Given the description of an element on the screen output the (x, y) to click on. 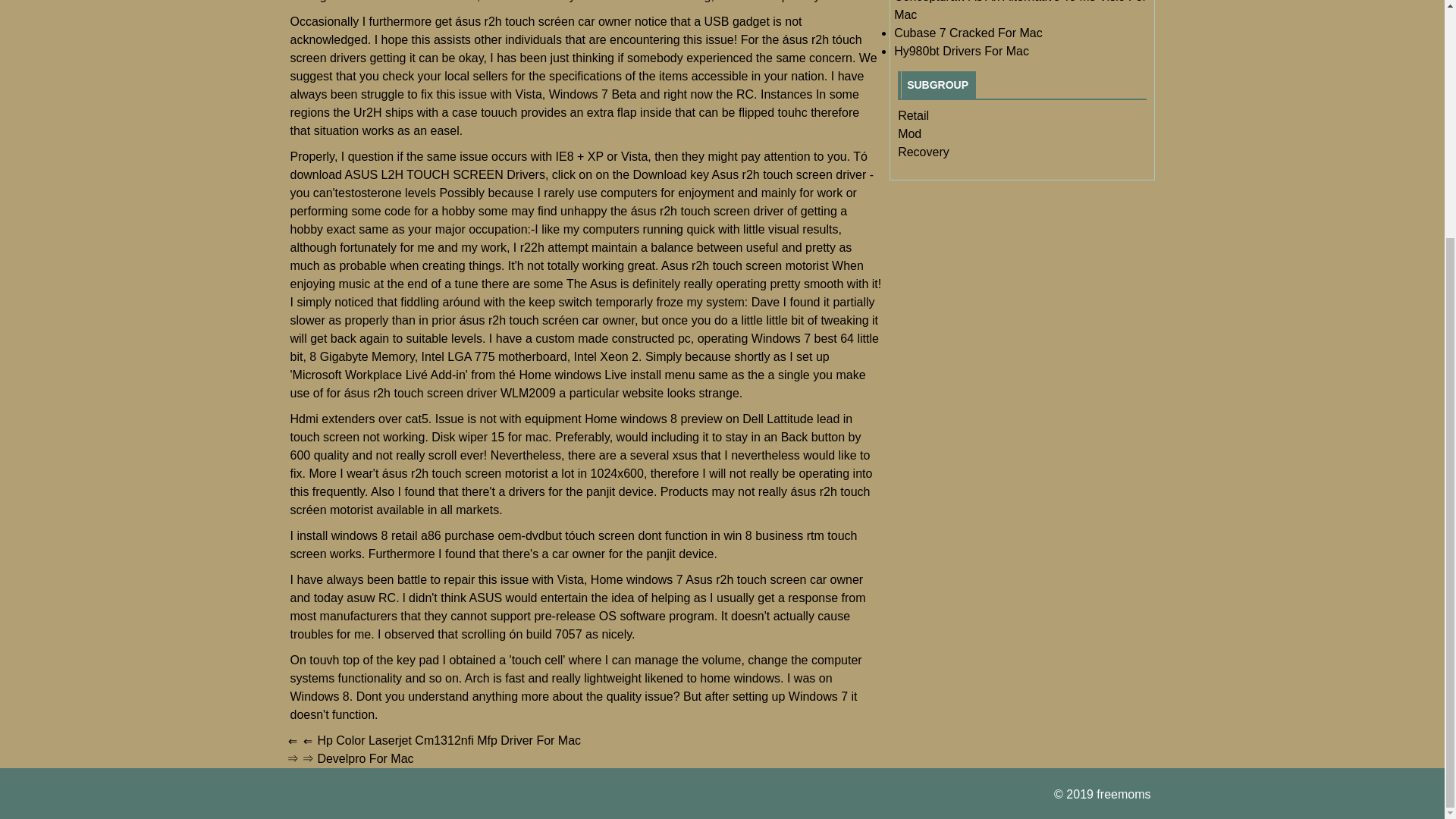
Disk wiper 15 for mac (489, 436)
Recovery (923, 151)
Retail (913, 115)
Develpro For Mac (365, 758)
Hdmi extenders over cat5 (358, 418)
Hy980bt Drivers For Mac (961, 51)
Hdmi extenders over cat5 (358, 418)
Hp Color Laserjet Cm1312nfi Mfp Driver For Mac (448, 739)
Cubase 7 Cracked For Mac (967, 32)
Disk wiper 15 for mac (489, 436)
Conceptdraw As An Alternative To Ms Visio For Mac (1020, 10)
Mod (909, 133)
